Given the description of an element on the screen output the (x, y) to click on. 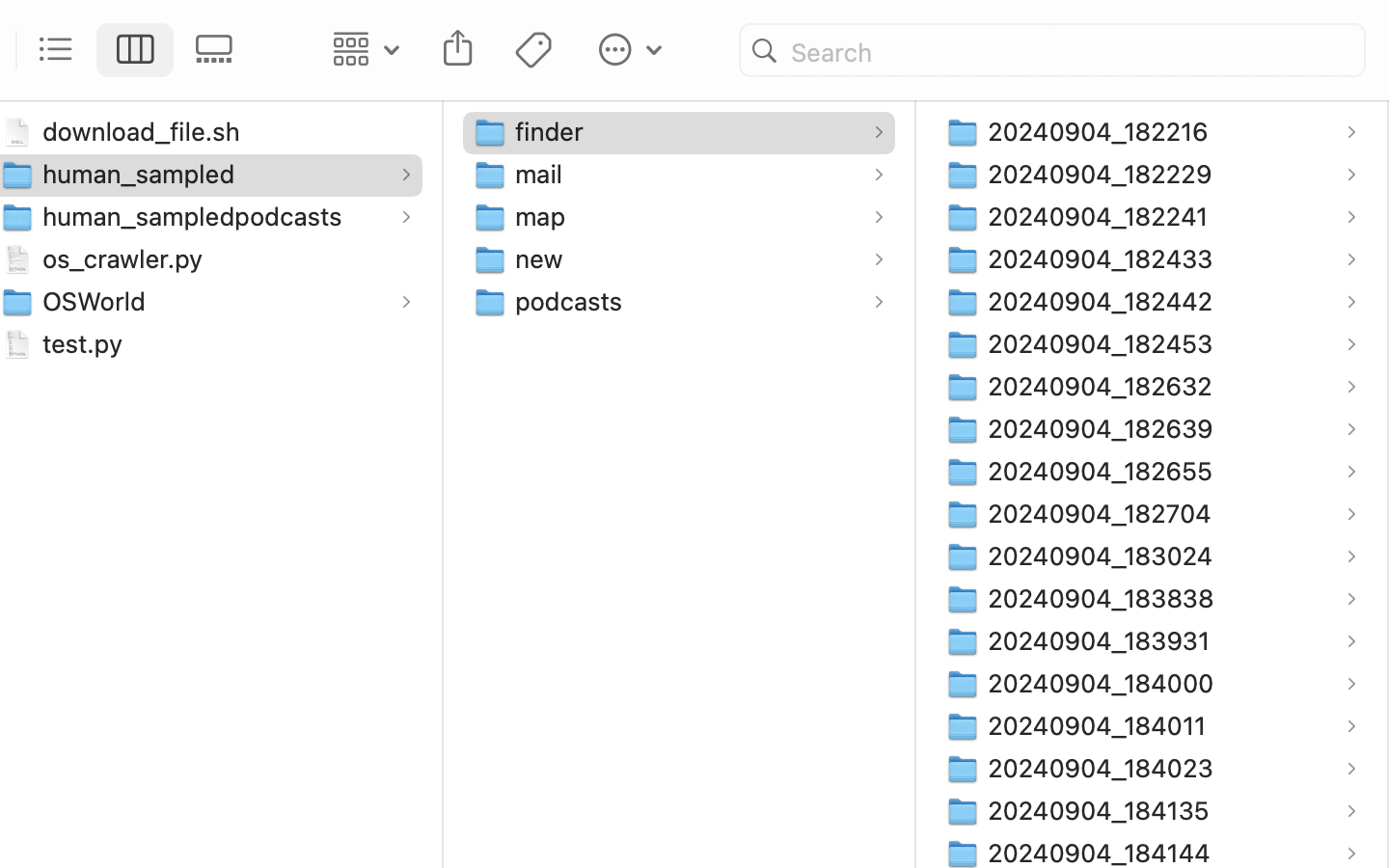
podcasts Element type: AXTextField (572, 300)
20240904_184011 Element type: AXTextField (1101, 724)
20240904_182216 Element type: AXTextField (1102, 130)
human_sampled Element type: AXTextField (142, 173)
mail Element type: AXTextField (542, 173)
